Given the description of an element on the screen output the (x, y) to click on. 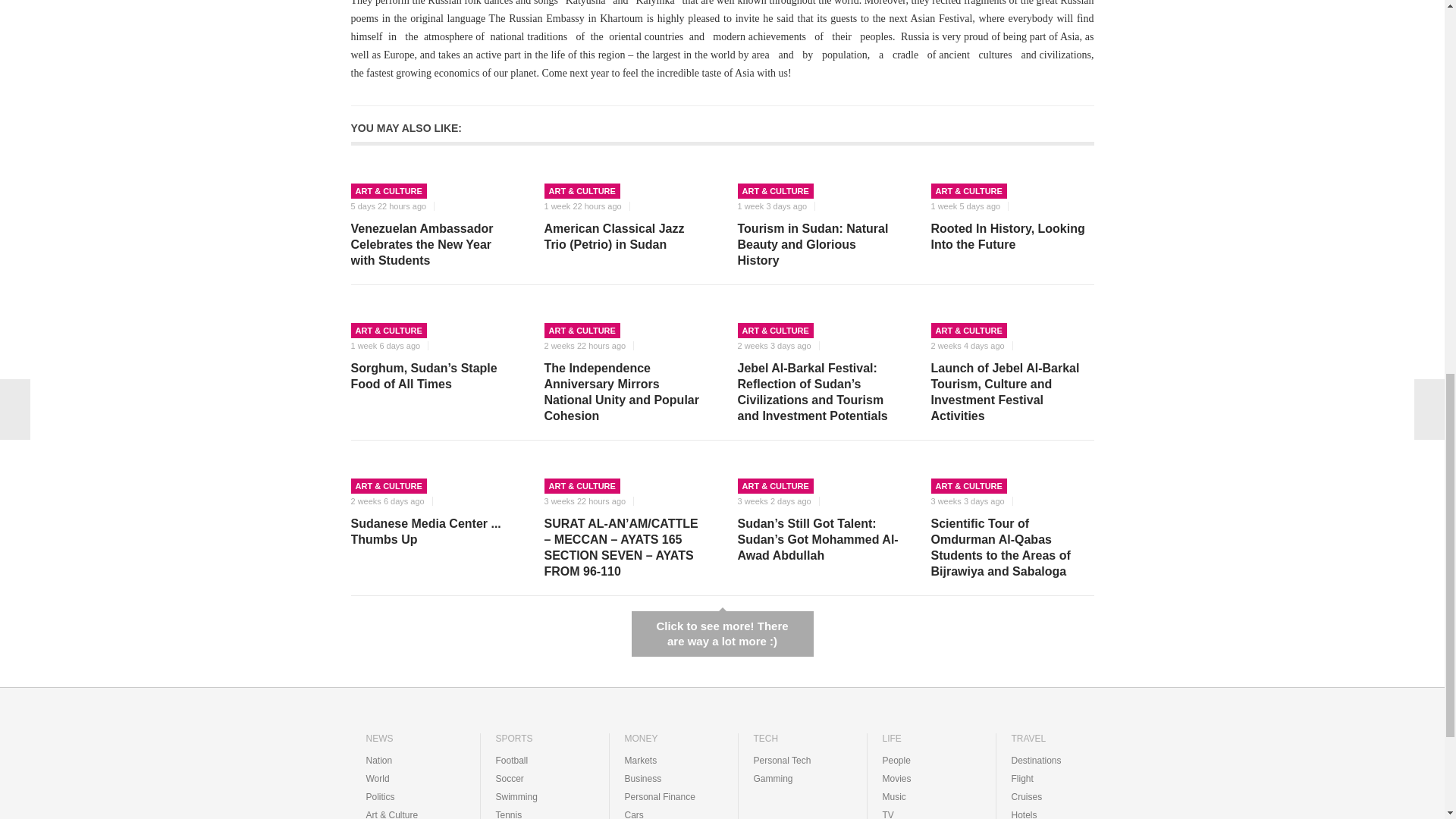
Venezuelan Ambassador Celebrates the New Year with Students (431, 244)
